Given the description of an element on the screen output the (x, y) to click on. 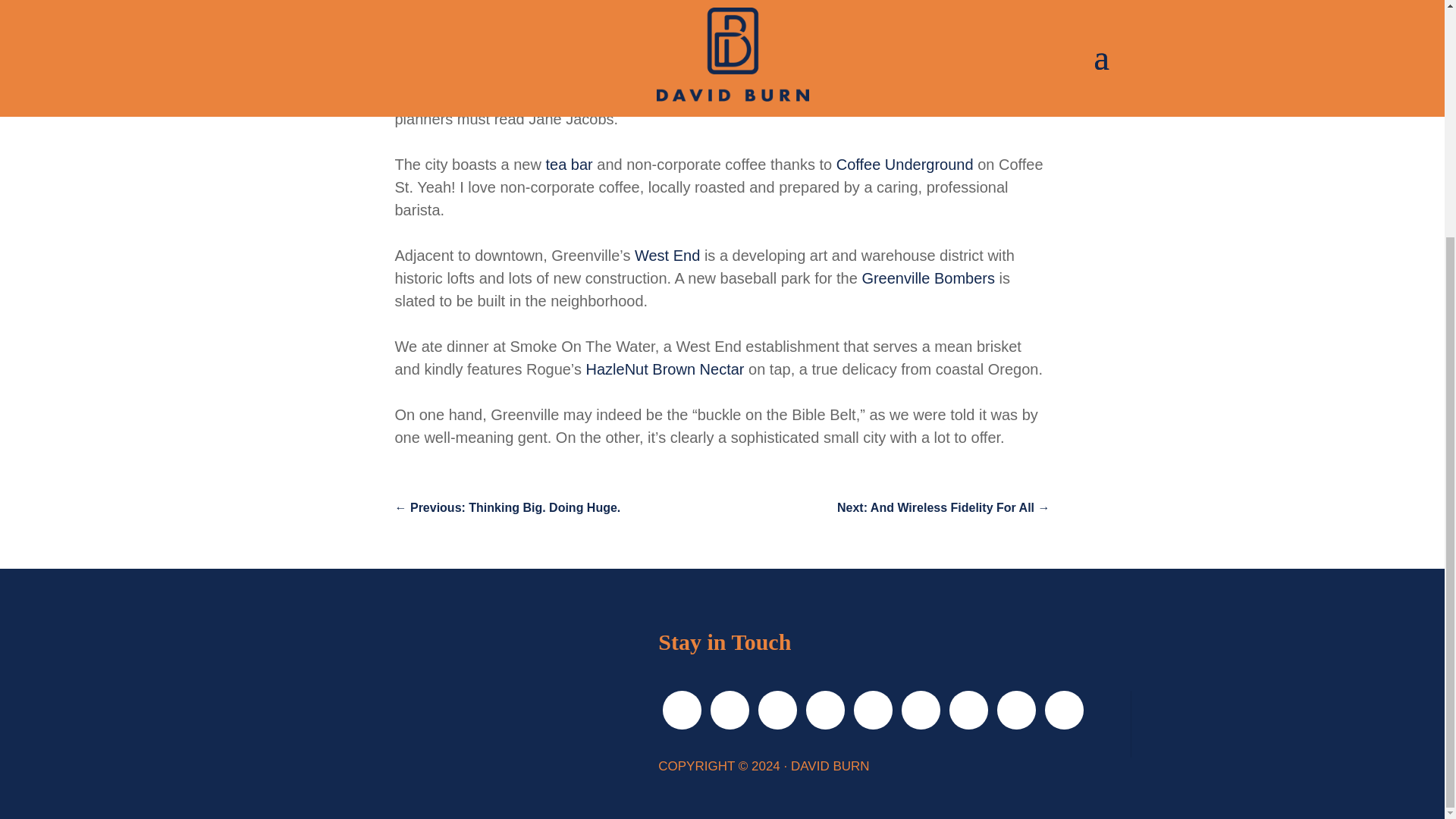
tea bar (568, 164)
HazleNut Brown Nectar (665, 369)
West End (667, 255)
Greenville Bombers (927, 278)
Coffee Underground (904, 164)
